Given the description of an element on the screen output the (x, y) to click on. 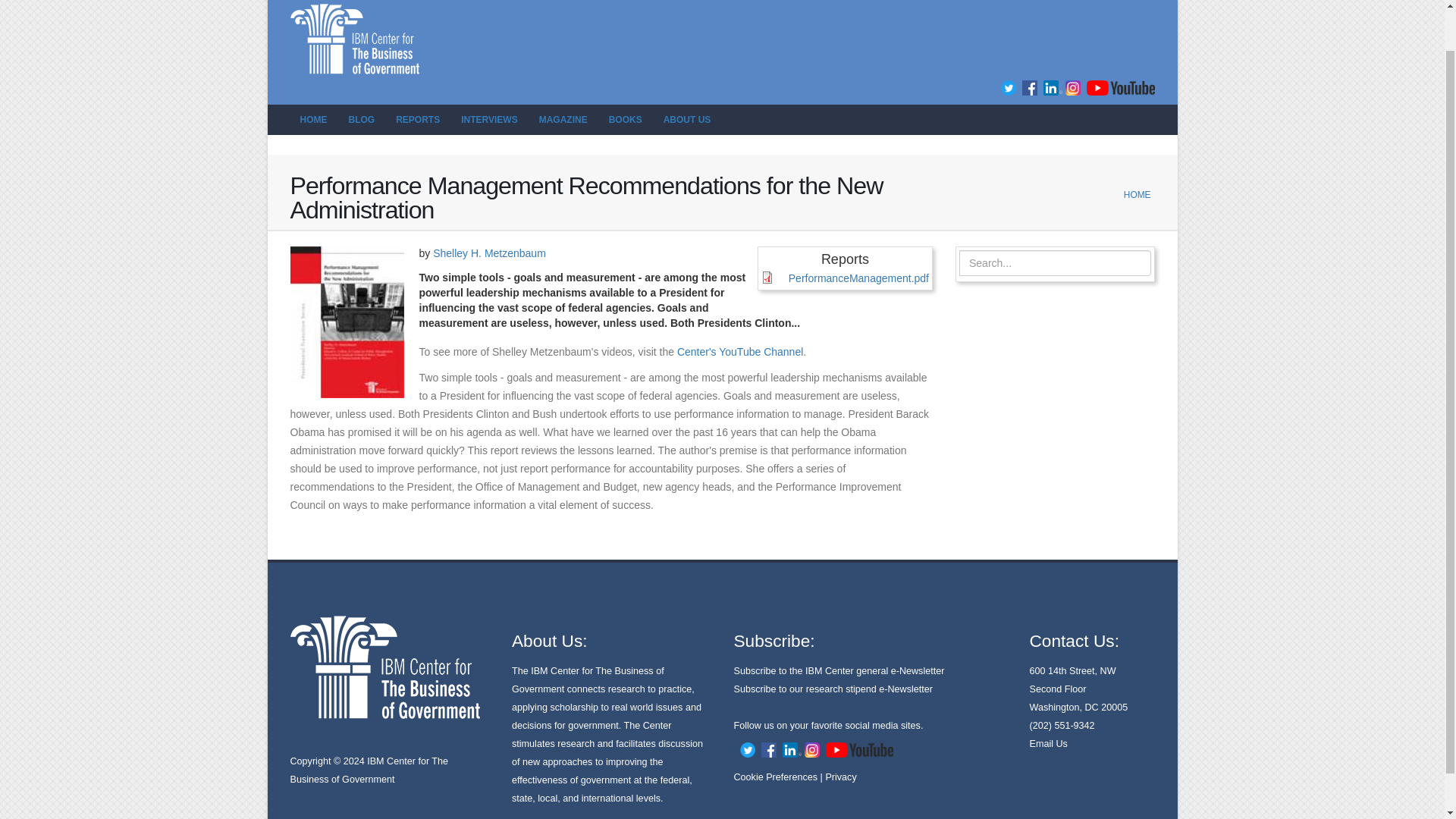
Subscribe to the IBM Center general e-Newsletter (838, 670)
HOME (312, 119)
Privacy (840, 777)
Email Us (1048, 743)
REPORTS (417, 119)
Subscribe to our research stipend e-Newsletter (833, 688)
BLOG (360, 119)
Enter the terms you wish to search for. (1055, 263)
ABOUT US (686, 119)
BOOKS (625, 119)
